Given the description of an element on the screen output the (x, y) to click on. 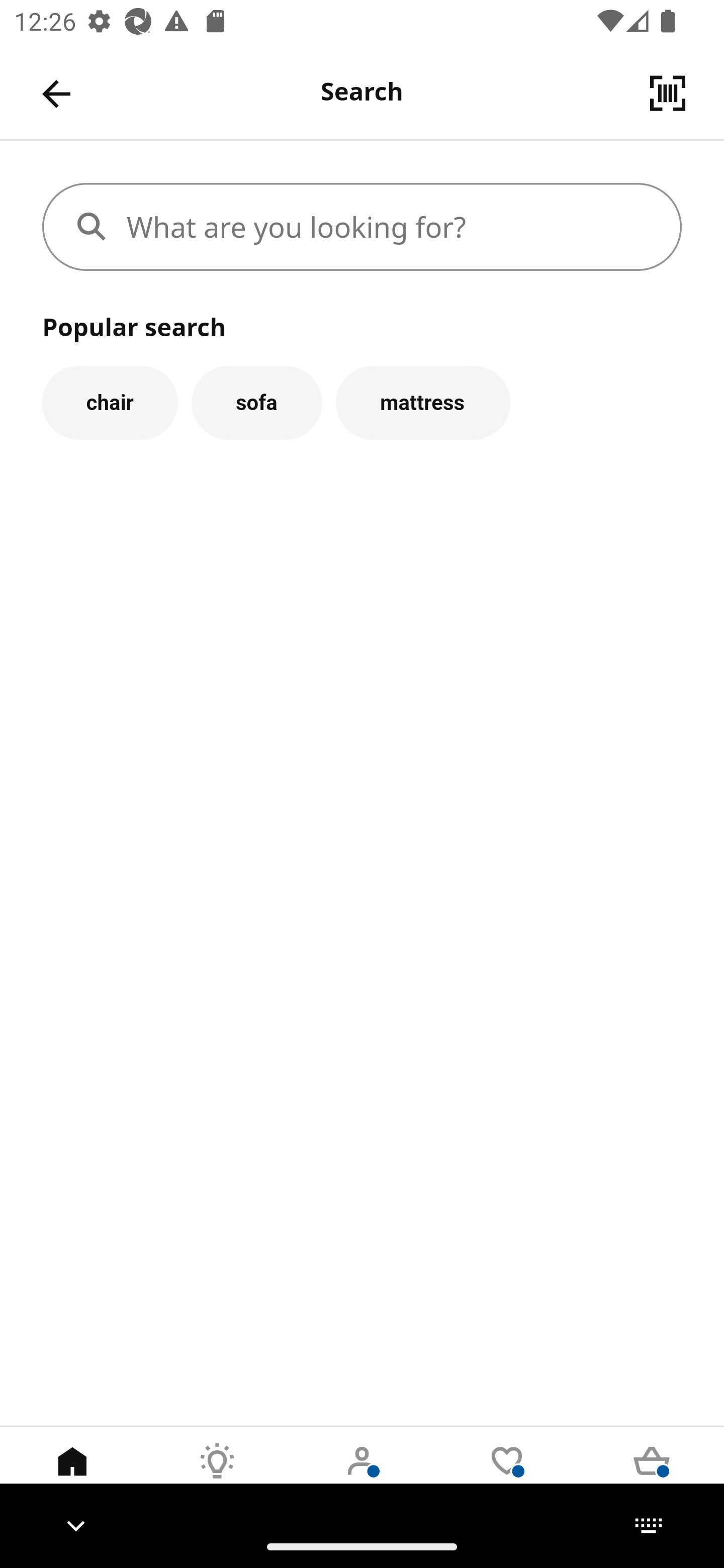
chair (109, 402)
sofa (256, 402)
mattress (423, 402)
Home
Tab 1 of 5 (72, 1476)
Inspirations
Tab 2 of 5 (216, 1476)
User
Tab 3 of 5 (361, 1476)
Wishlist
Tab 4 of 5 (506, 1476)
Cart
Tab 5 of 5 (651, 1476)
